Given the description of an element on the screen output the (x, y) to click on. 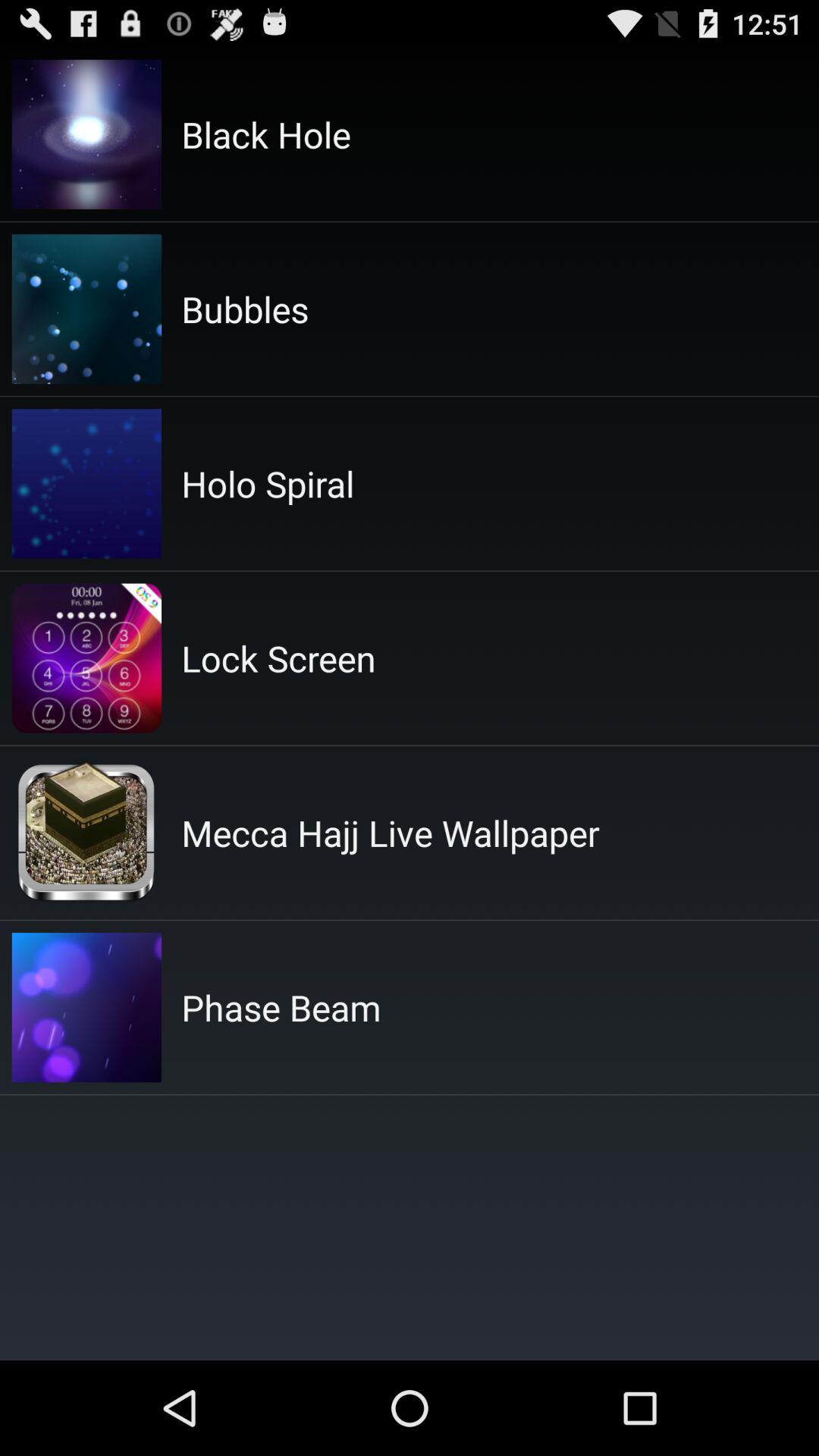
click the icon below lock screen (390, 832)
